Given the description of an element on the screen output the (x, y) to click on. 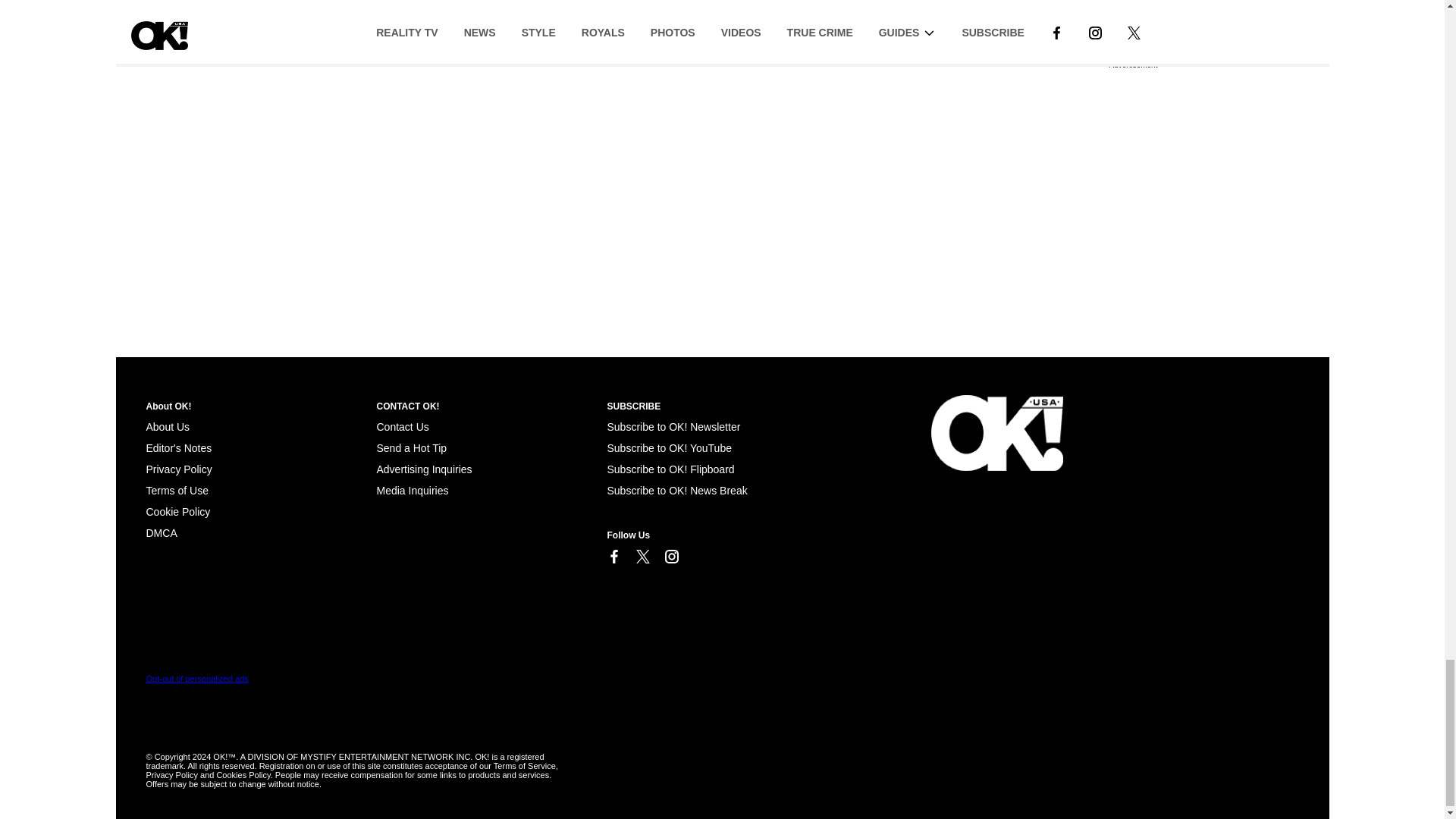
Privacy Policy (178, 469)
Link to Facebook (613, 556)
Cookie Policy (177, 511)
About Us (167, 426)
Terms of Use (176, 490)
Contact Us (401, 426)
Send a Hot Tip (410, 448)
Link to Instagram (670, 556)
Link to X (641, 556)
Cookie Policy (160, 532)
Editor's Notes (178, 448)
